Given the description of an element on the screen output the (x, y) to click on. 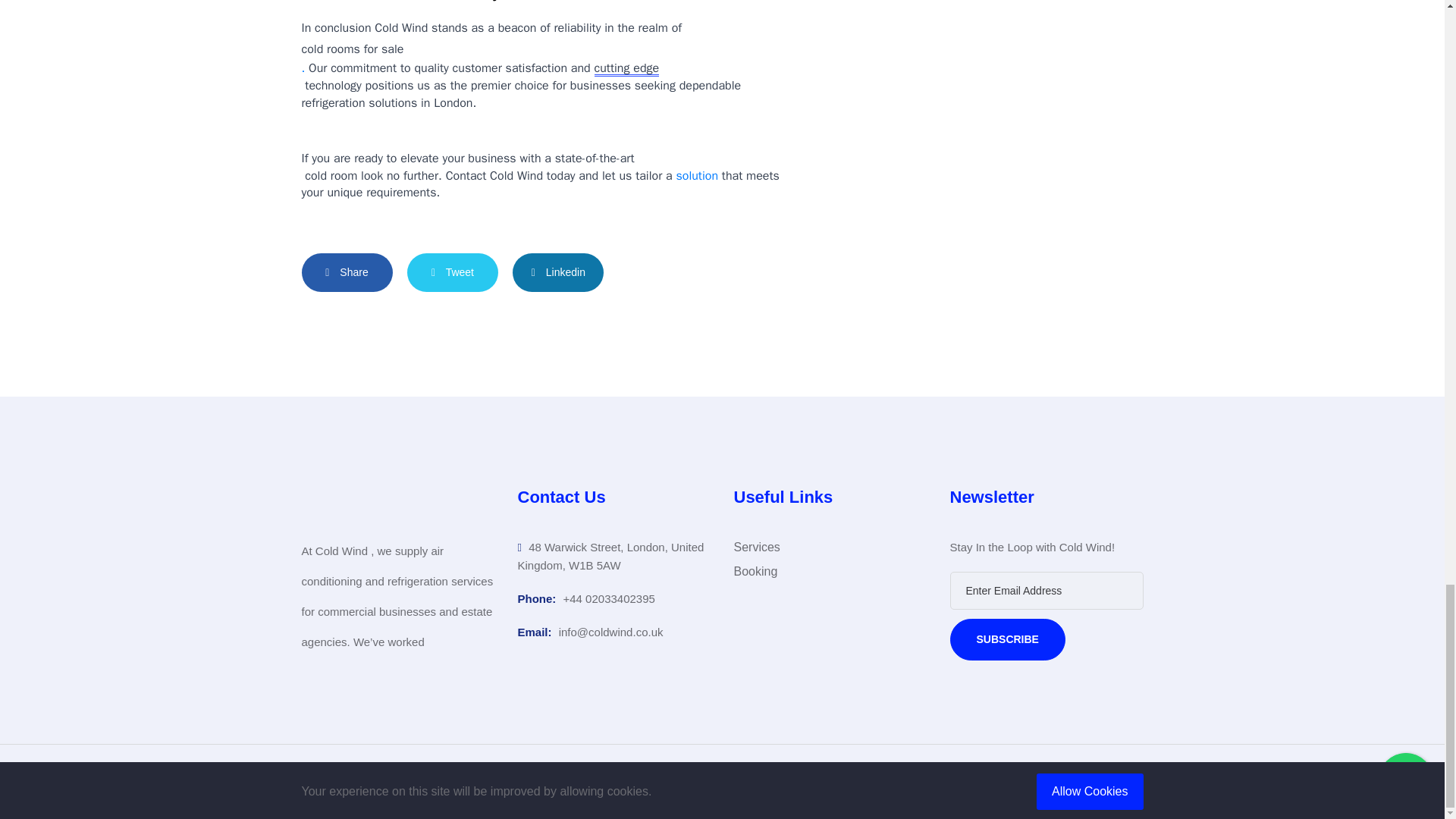
Booking (755, 571)
Services (756, 547)
Tweet (452, 272)
Share (347, 272)
solution (696, 176)
Linkedin (558, 272)
SUBSCRIBE (1006, 639)
